Given the description of an element on the screen output the (x, y) to click on. 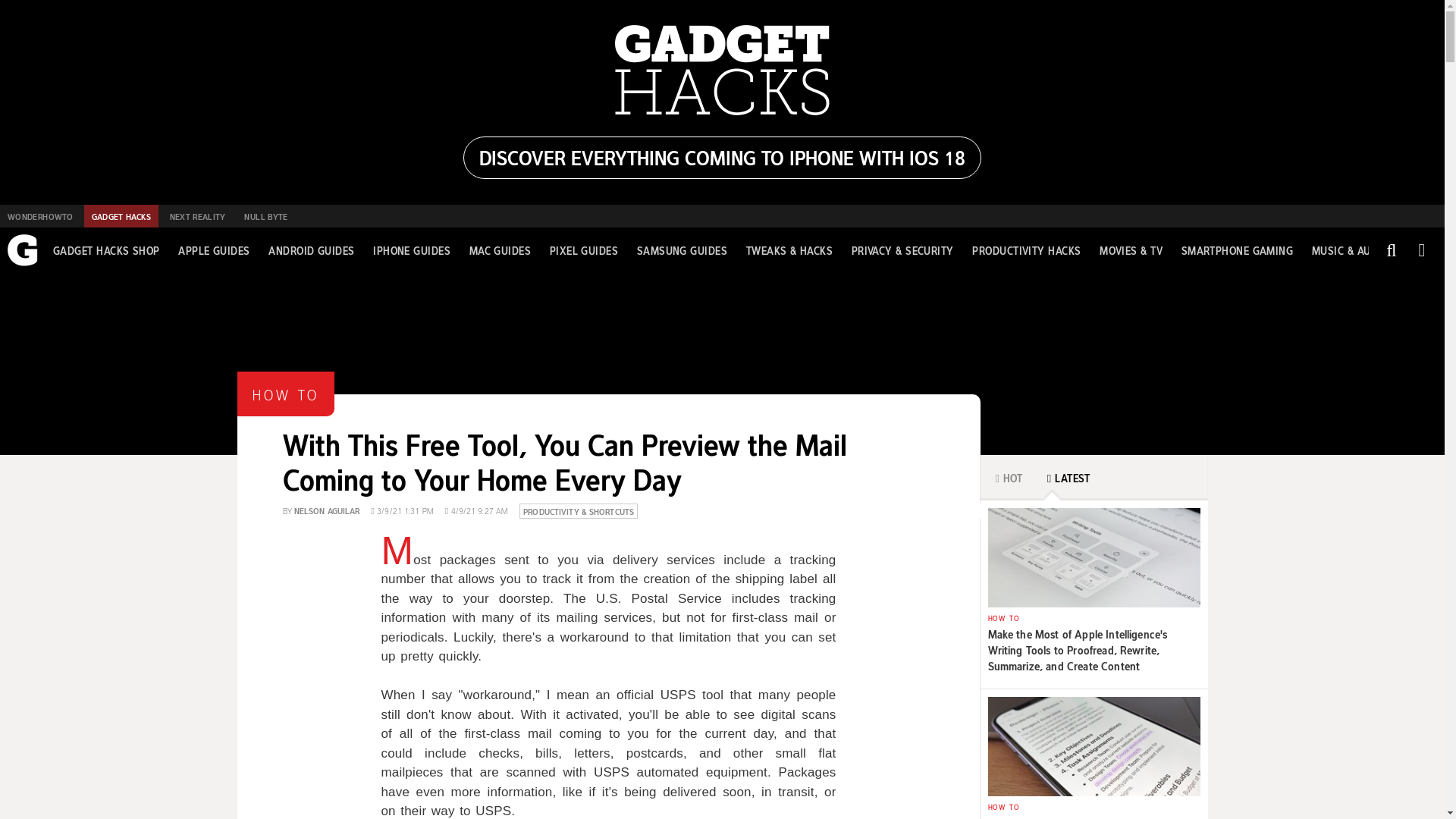
PRODUCTIVITY HACKS (1026, 249)
SMARTPHONE GAMING (1237, 249)
SAMSUNG GUIDES (681, 249)
APPLE GUIDES (212, 249)
GADGET HACKS (121, 215)
NULL BYTE (265, 215)
NELSON AGUILAR (326, 509)
ANDROID GUIDES (310, 249)
IPHONE GUIDES (410, 249)
